Given the description of an element on the screen output the (x, y) to click on. 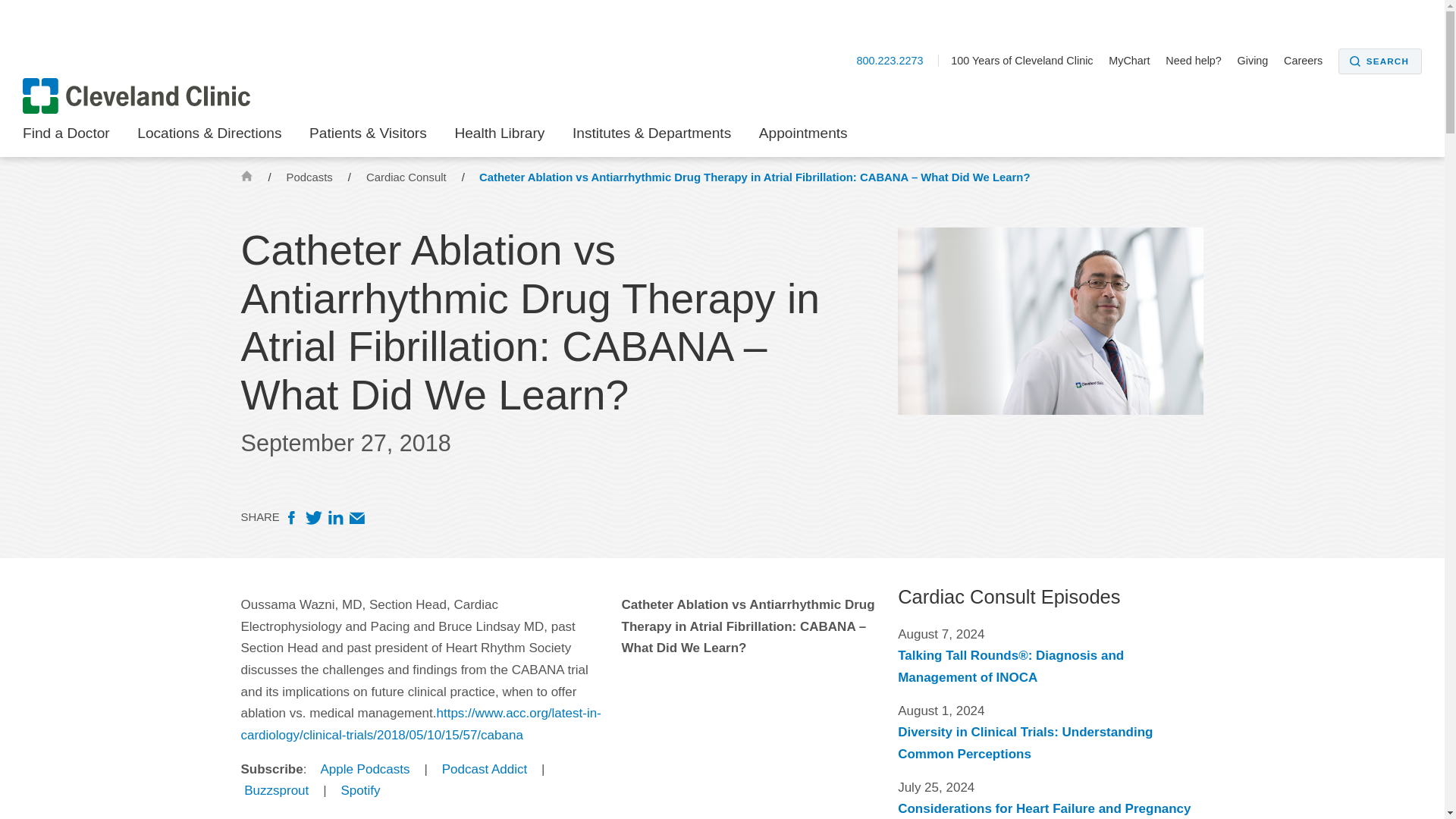
Find a Doctor (66, 137)
Need help? (1199, 60)
Considerations for Heart Failure and Pregnancy (1044, 808)
100 Years of Cleveland Clinic (1027, 60)
SEARCH (1380, 61)
Appointments (802, 137)
MyChart (1134, 60)
Careers (1309, 60)
MyChart (1134, 60)
